Given the description of an element on the screen output the (x, y) to click on. 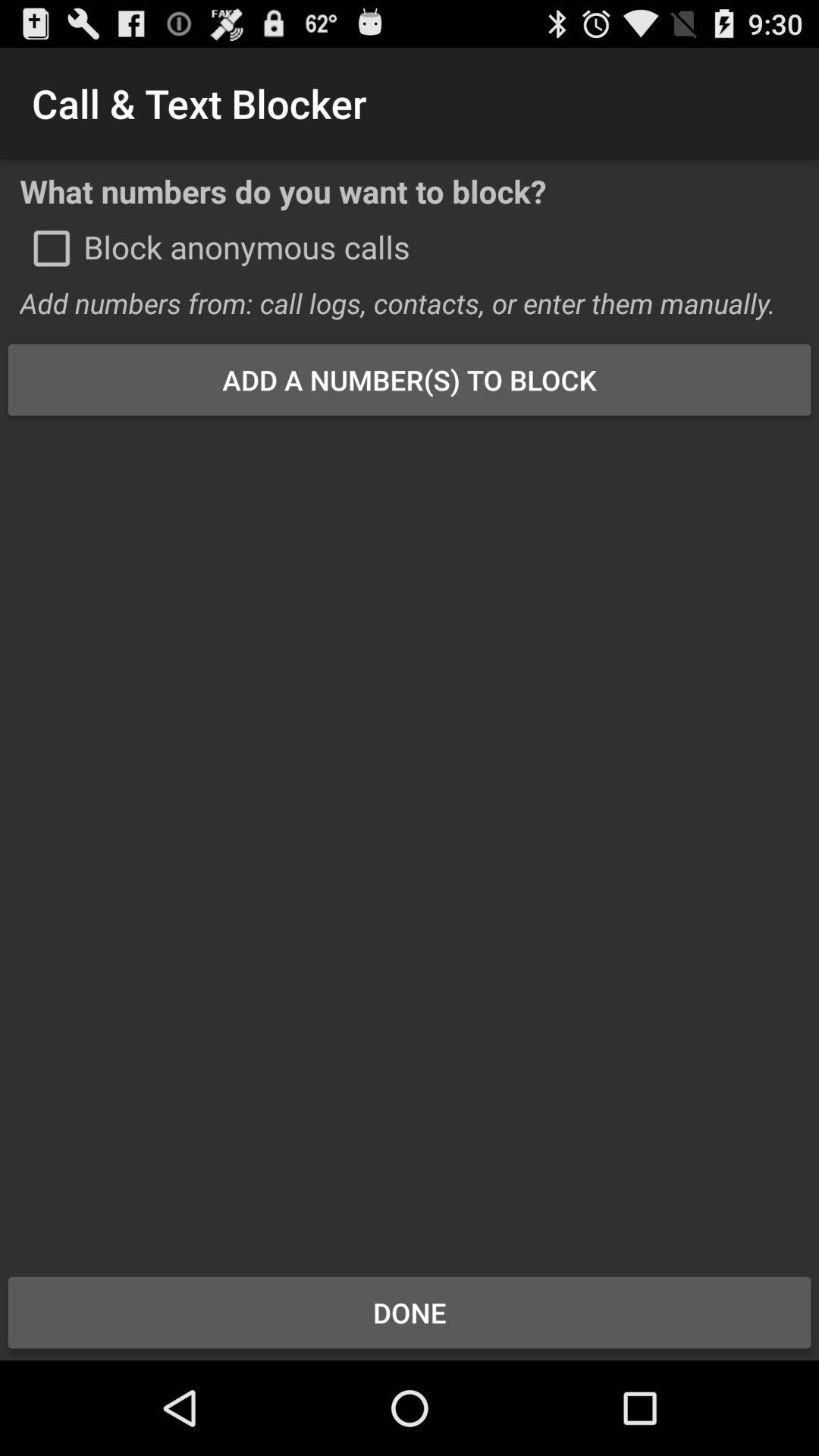
open the item below the what numbers do app (51, 248)
